Given the description of an element on the screen output the (x, y) to click on. 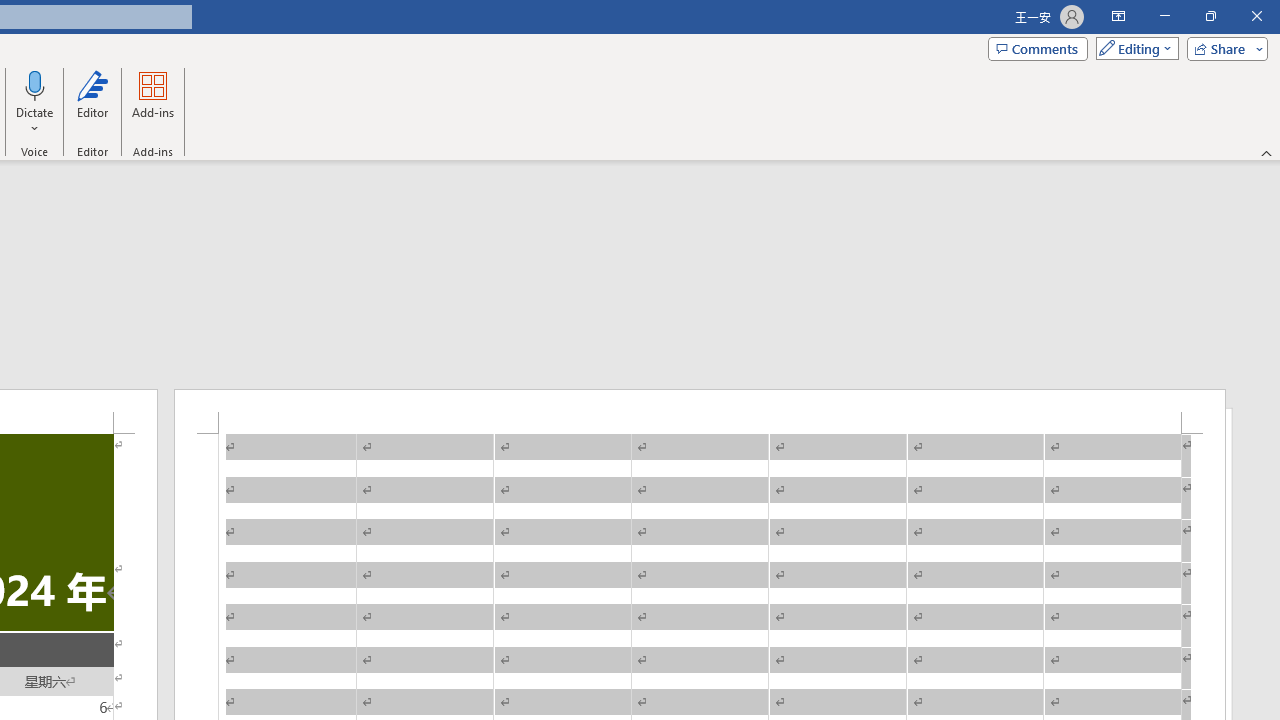
Header -Section 1- (700, 411)
